Given the description of an element on the screen output the (x, y) to click on. 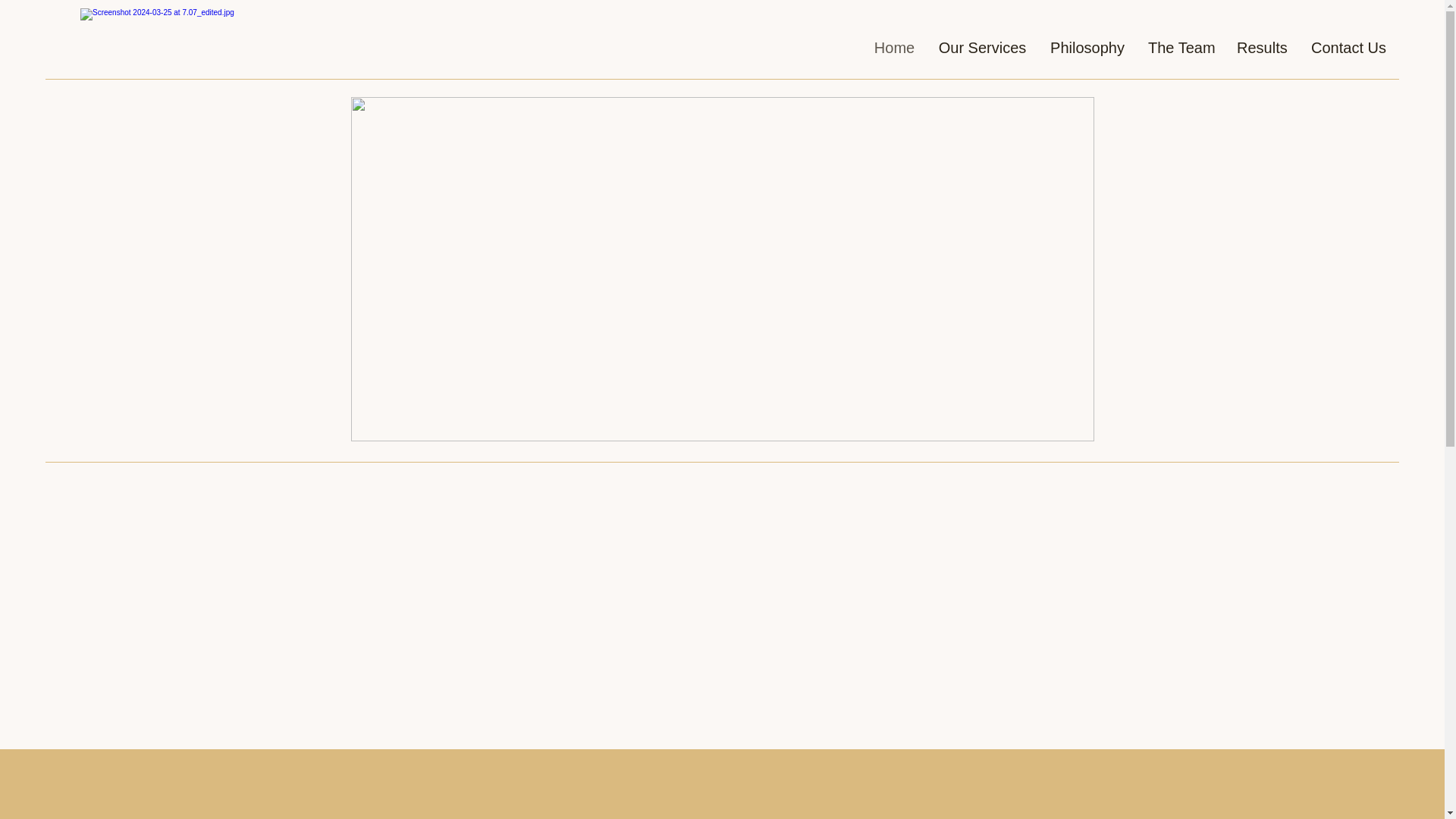
Philosophy (1087, 48)
Our Services (982, 48)
Contact Us (1348, 48)
Home (893, 48)
The Team (1181, 48)
Results (1261, 48)
